Given the description of an element on the screen output the (x, y) to click on. 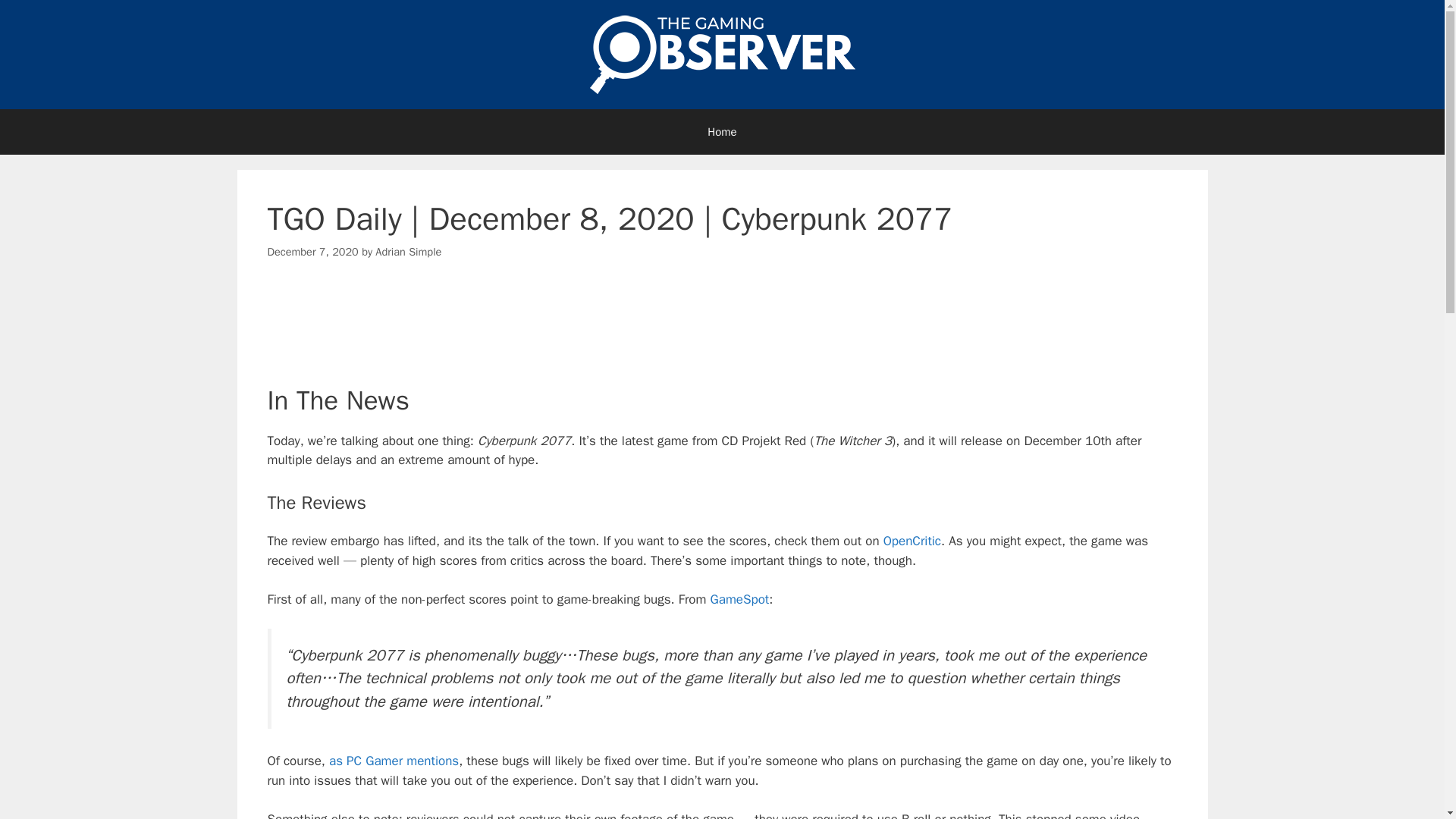
GameSpot (740, 599)
Adrian Simple (408, 251)
Home (722, 131)
as PC Gamer mentions (393, 760)
OpenCritic (911, 540)
View all posts by Adrian Simple (408, 251)
